Given the description of an element on the screen output the (x, y) to click on. 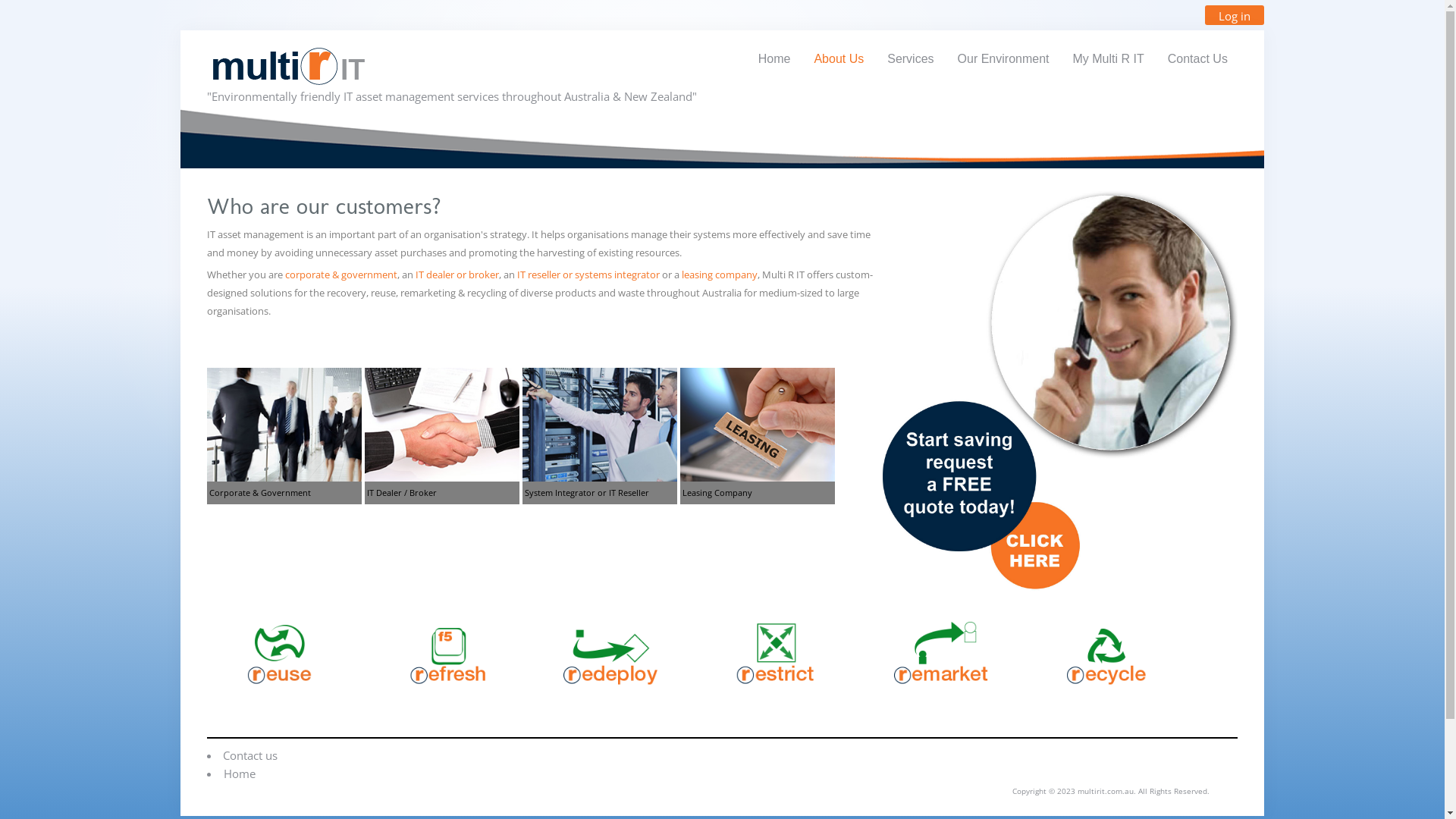
Home Element type: text (774, 58)
Our Environment Element type: text (1003, 58)
IT reseller or systems integrator Element type: text (588, 274)
My Multi R IT Element type: text (1108, 58)
Services Element type: text (910, 58)
leasing company Element type: text (719, 274)
Home Element type: text (239, 773)
About Us Element type: text (838, 58)
IT dealer or broker Element type: text (456, 274)
Contact Us Element type: text (1197, 58)
corporate & government Element type: text (341, 274)
Contact us Element type: text (249, 754)
